Given the description of an element on the screen output the (x, y) to click on. 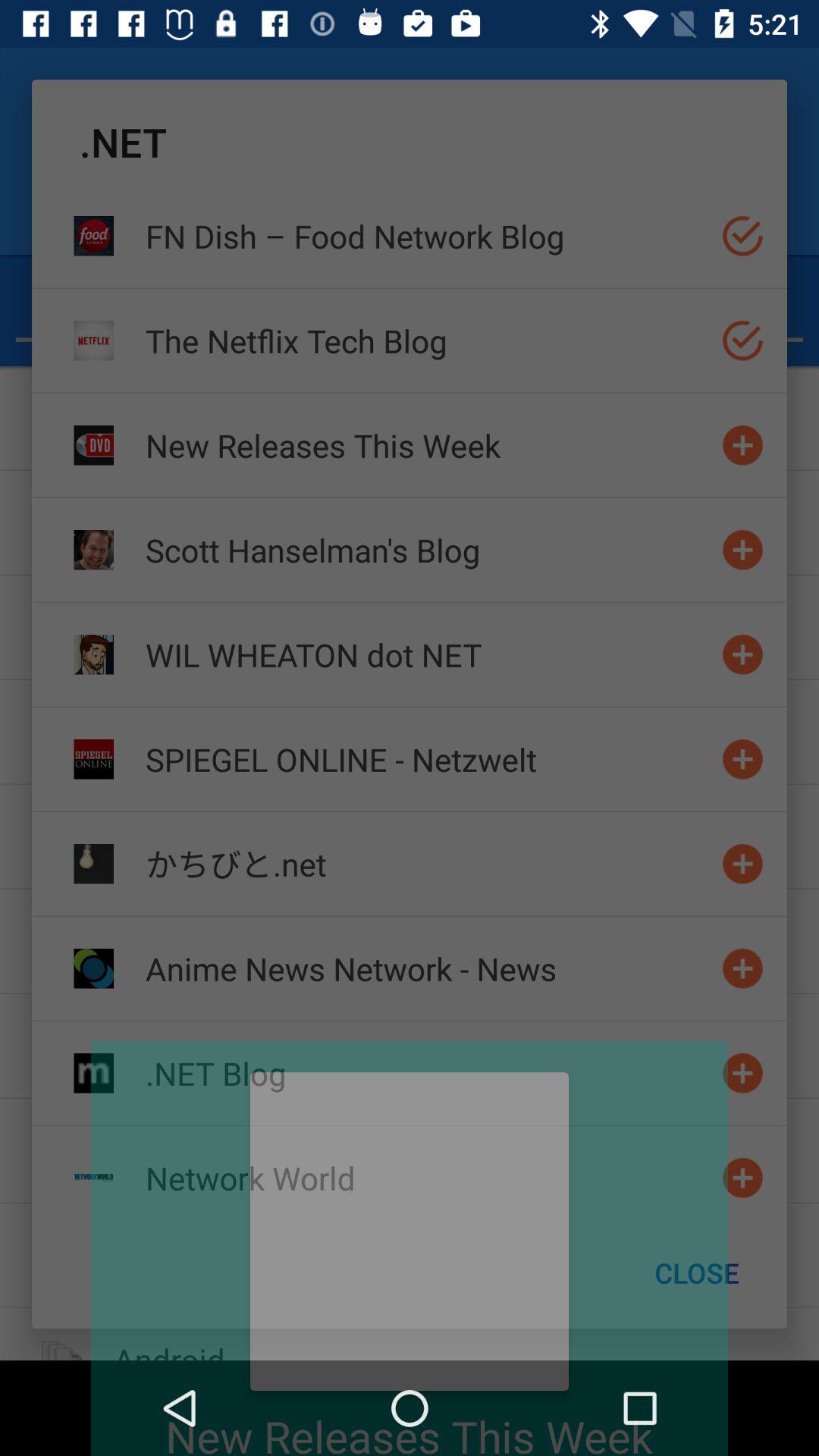
add blog (742, 1073)
